Given the description of an element on the screen output the (x, y) to click on. 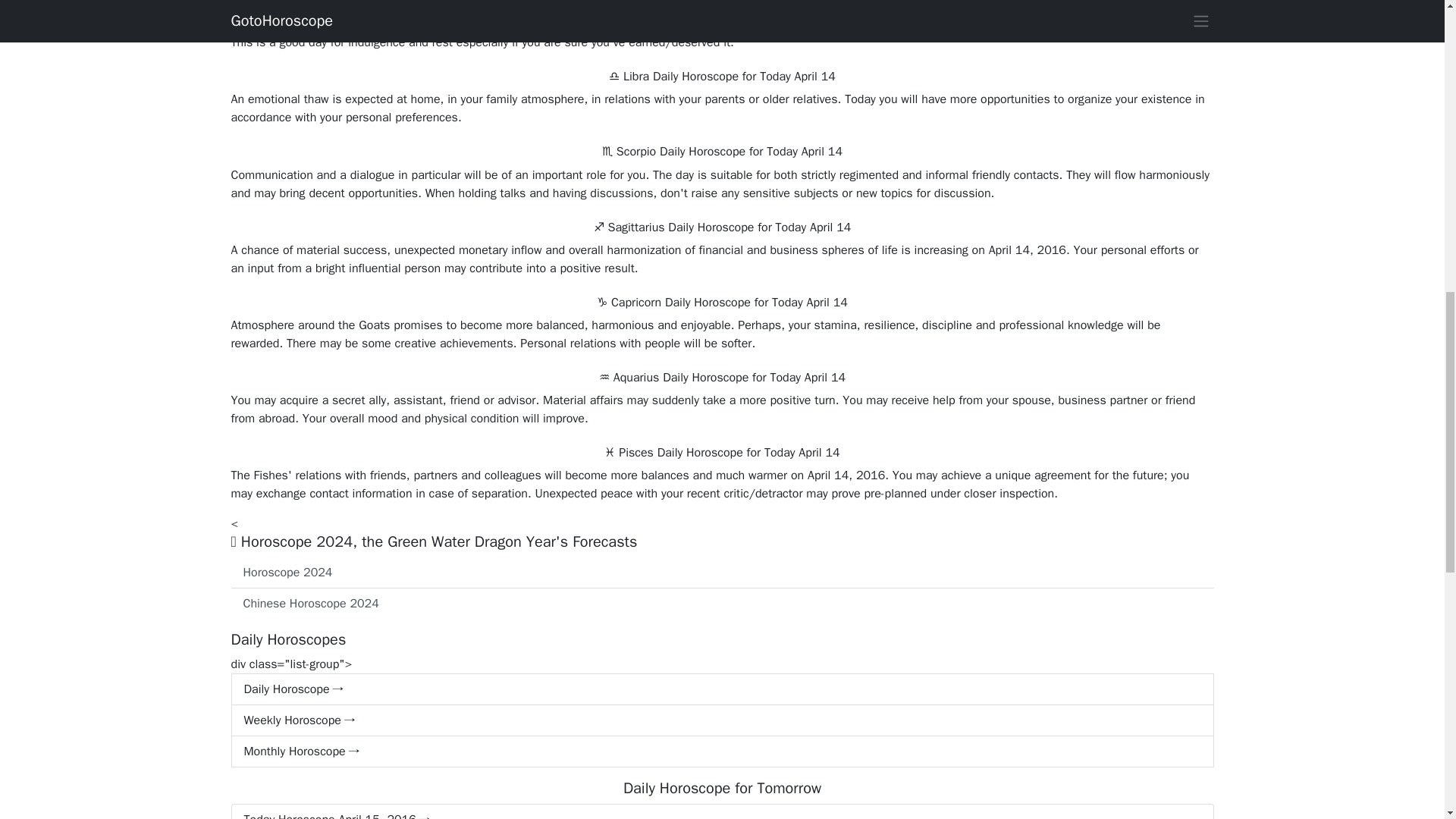
Weekly Horoscope (721, 720)
Horoscope 2024 (721, 572)
Daily Horoscope (721, 689)
Monthly Horoscope (721, 751)
Chinese Horoscope 2024 (721, 603)
Today Horoscope April 15, 2016 (721, 811)
